Given the description of an element on the screen output the (x, y) to click on. 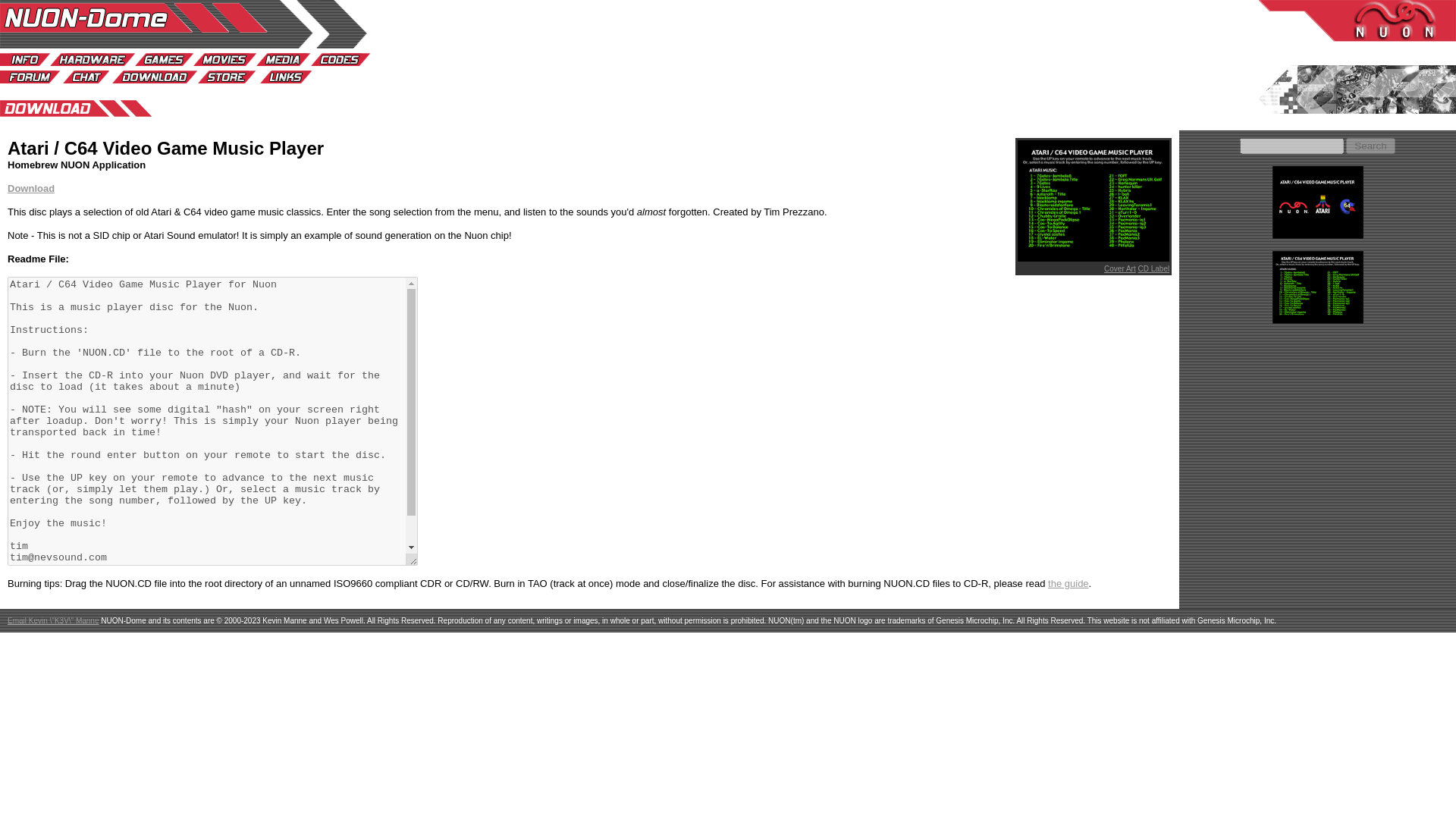
CD Label (1153, 268)
Cover Art (1119, 268)
 Search  (1370, 145)
Download (31, 188)
the guide (1068, 583)
